Given the description of an element on the screen output the (x, y) to click on. 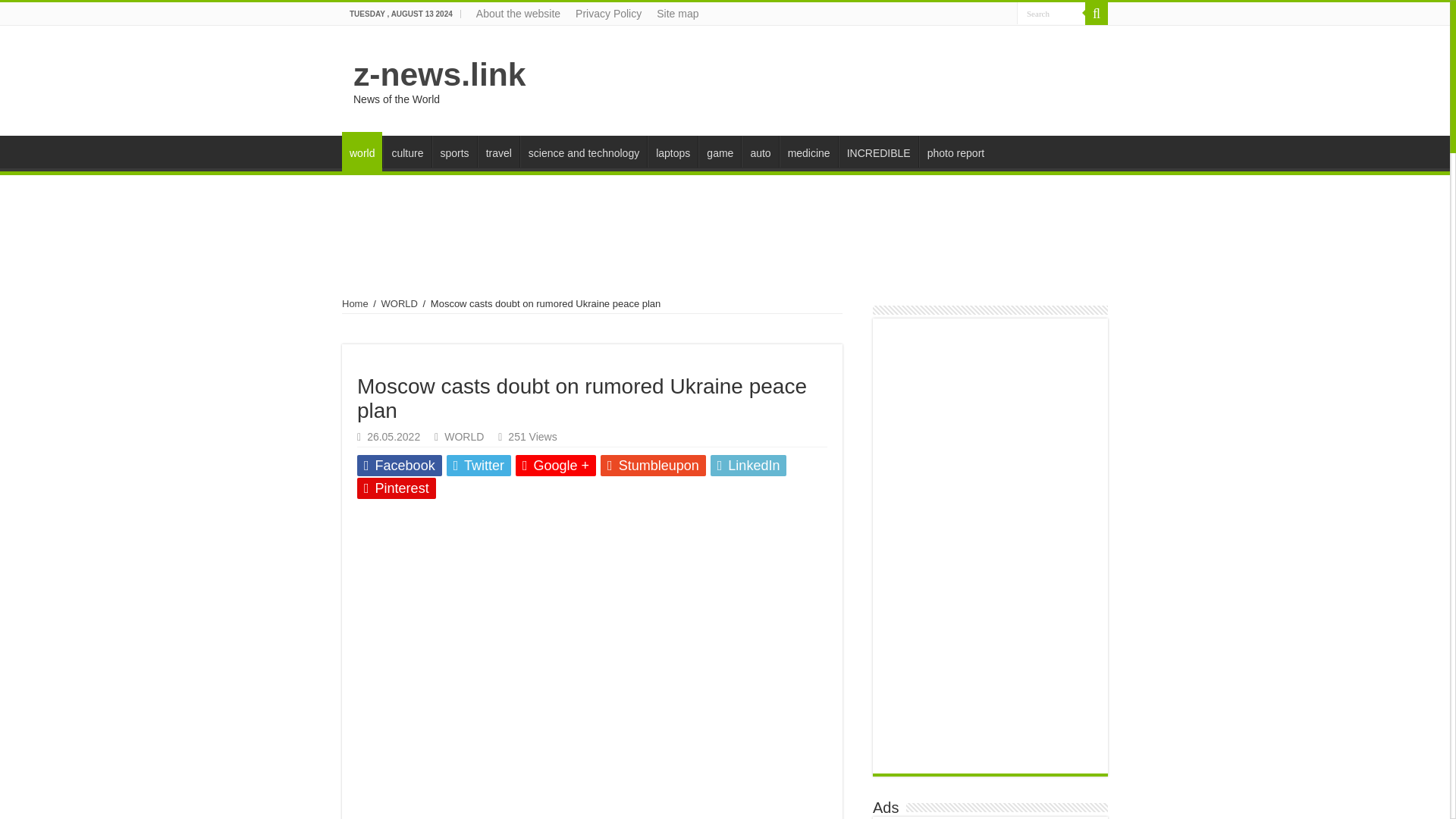
culture (406, 151)
Site map (677, 13)
Home (355, 303)
Privacy Policy (608, 13)
WORLD (463, 436)
science and technology (582, 151)
world (361, 151)
WORLD (399, 303)
medicine (808, 151)
Pinterest (395, 487)
